Given the description of an element on the screen output the (x, y) to click on. 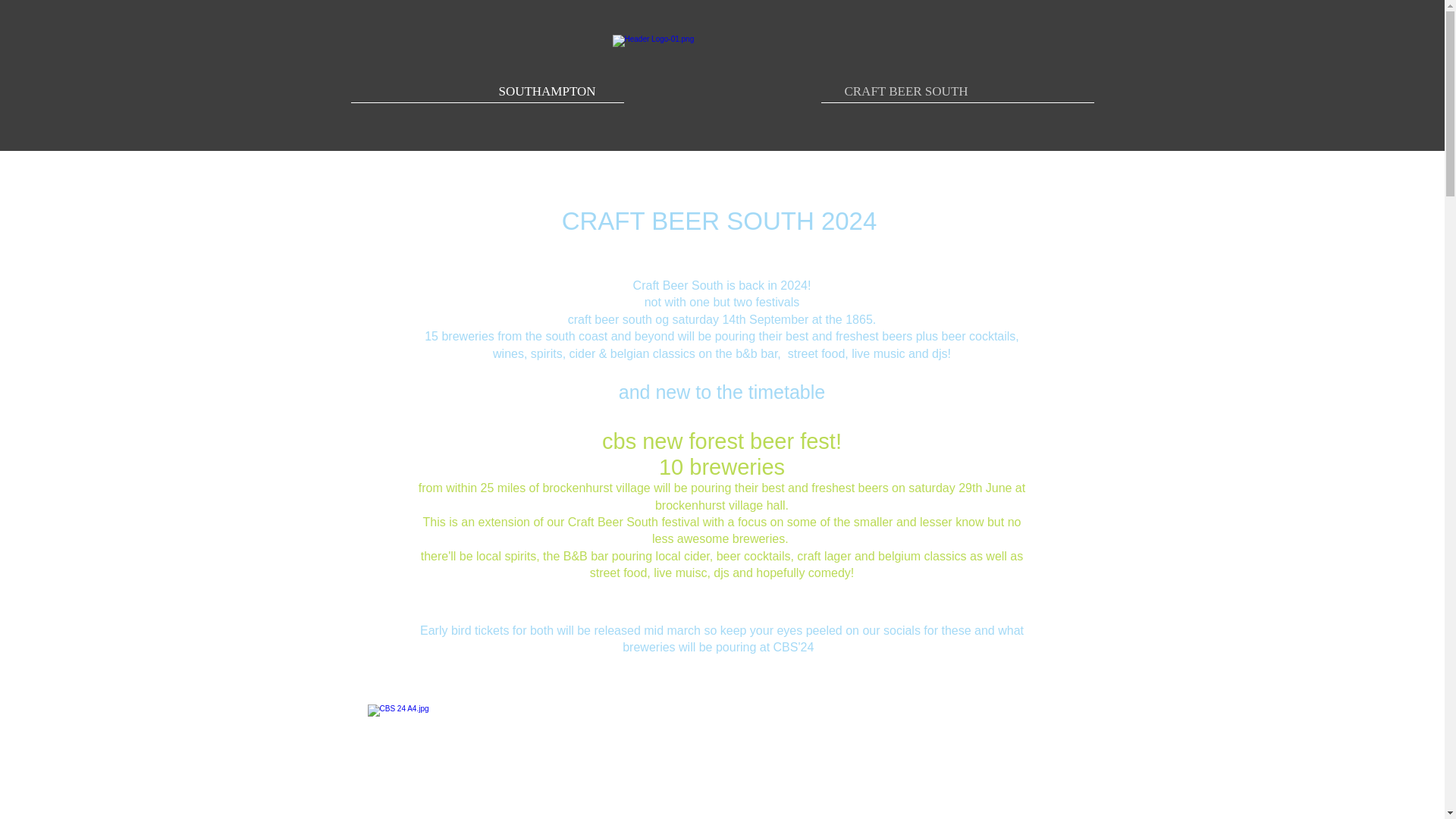
SOUTHAMPTON (546, 91)
Header Logo-01.png (726, 92)
CRAFT BEER SOUTH (905, 91)
